Given the description of an element on the screen output the (x, y) to click on. 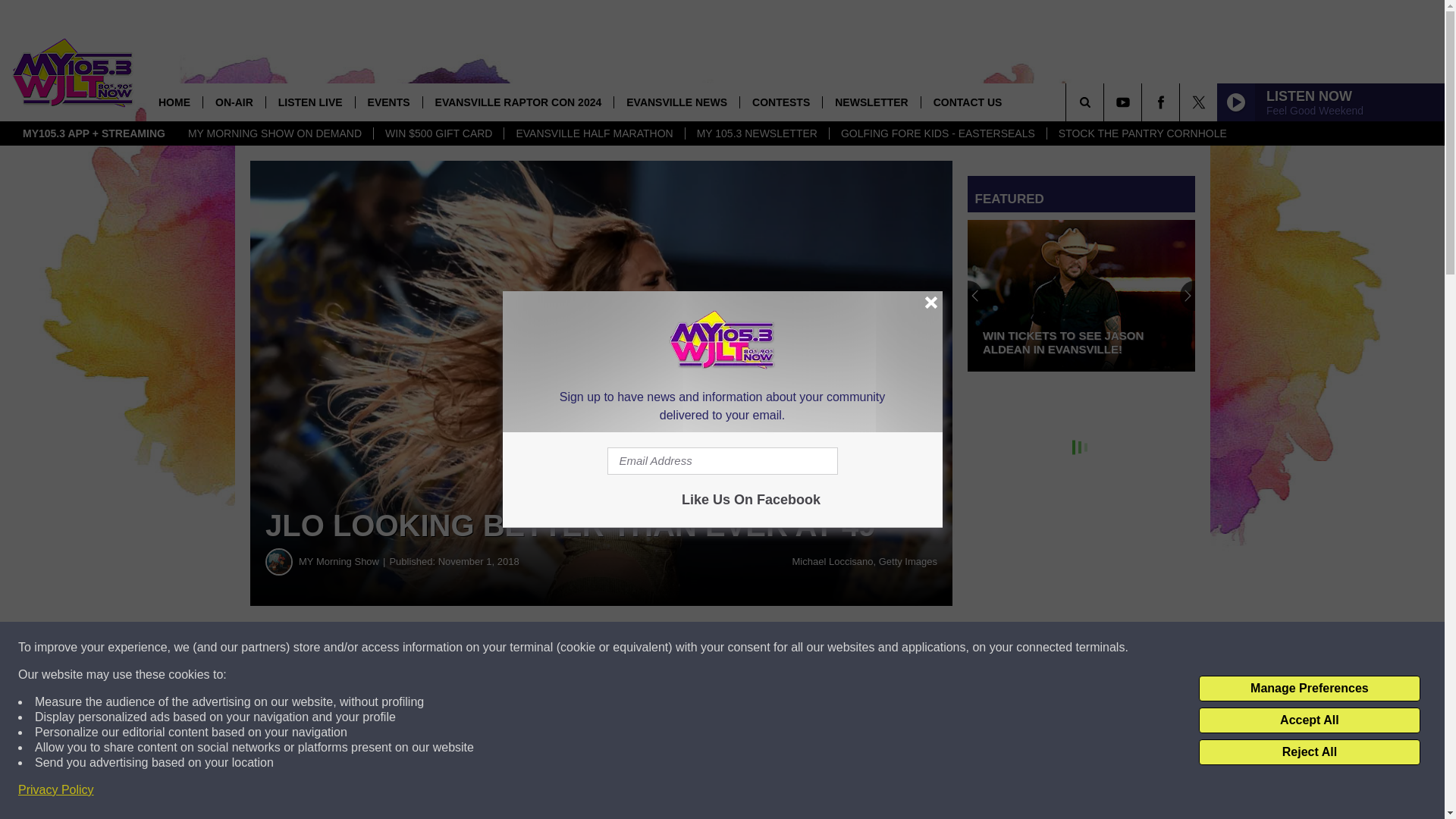
SEARCH (1106, 102)
MY MORNING SHOW ON DEMAND (274, 133)
EVENTS (388, 102)
Share on Facebook (460, 647)
NEWSLETTER (871, 102)
LISTEN LIVE (309, 102)
HOME (174, 102)
Privacy Policy (55, 789)
ON-AIR (233, 102)
EVANSVILLE HALF MARATHON (593, 133)
EVANSVILLE RAPTOR CON 2024 (518, 102)
MY 105.3 NEWSLETTER (756, 133)
STOCK THE PANTRY CORNHOLE (1142, 133)
Share on Twitter (741, 647)
CONTACT US (967, 102)
